Given the description of an element on the screen output the (x, y) to click on. 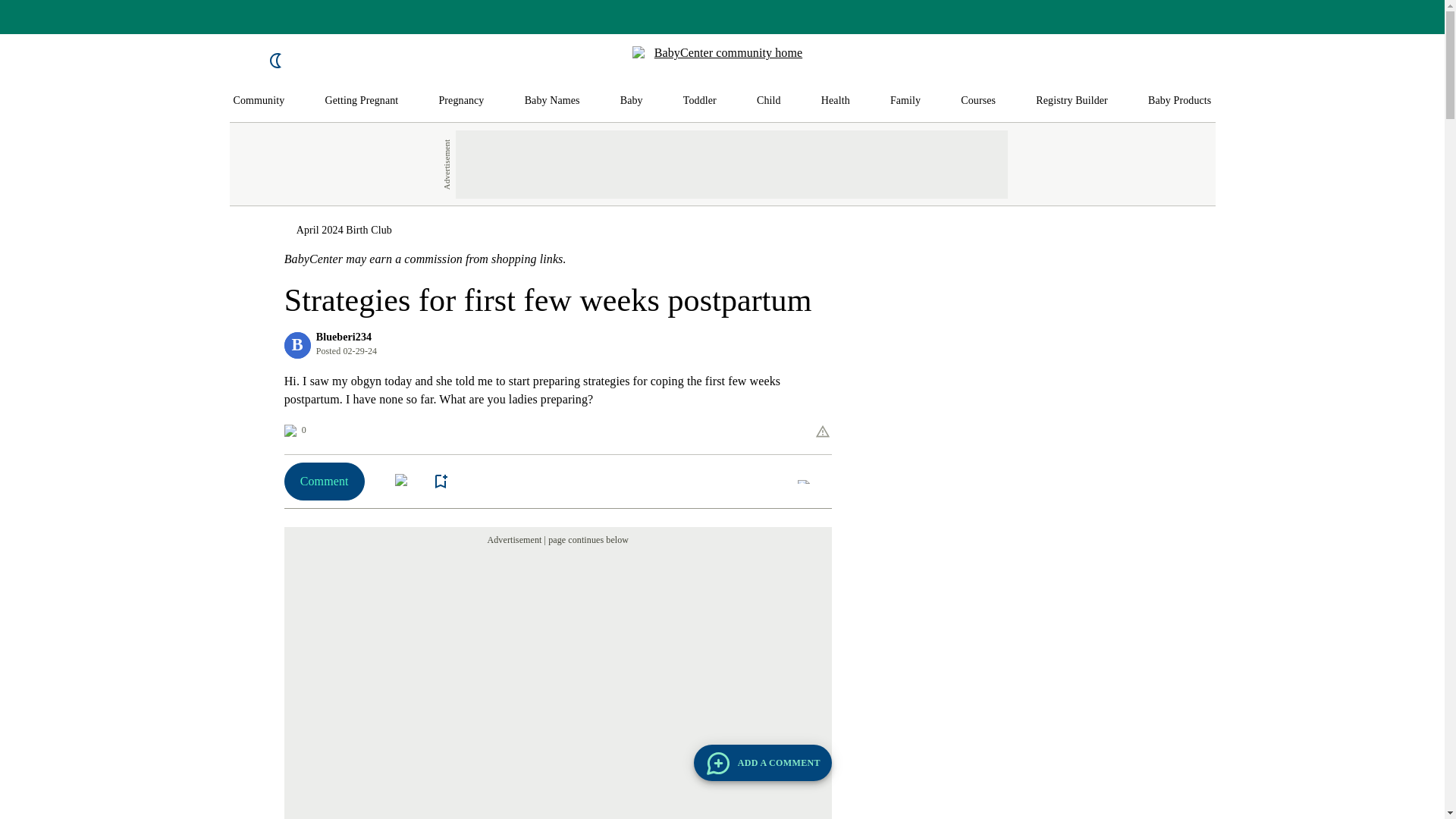
Toddler (699, 101)
Health (835, 101)
Baby Names (551, 101)
Pregnancy (460, 101)
Community (258, 101)
Registry Builder (1071, 101)
Courses (977, 101)
Child (768, 101)
Baby Products (1179, 101)
Getting Pregnant (360, 101)
Baby (631, 101)
Family (904, 101)
